Given the description of an element on the screen output the (x, y) to click on. 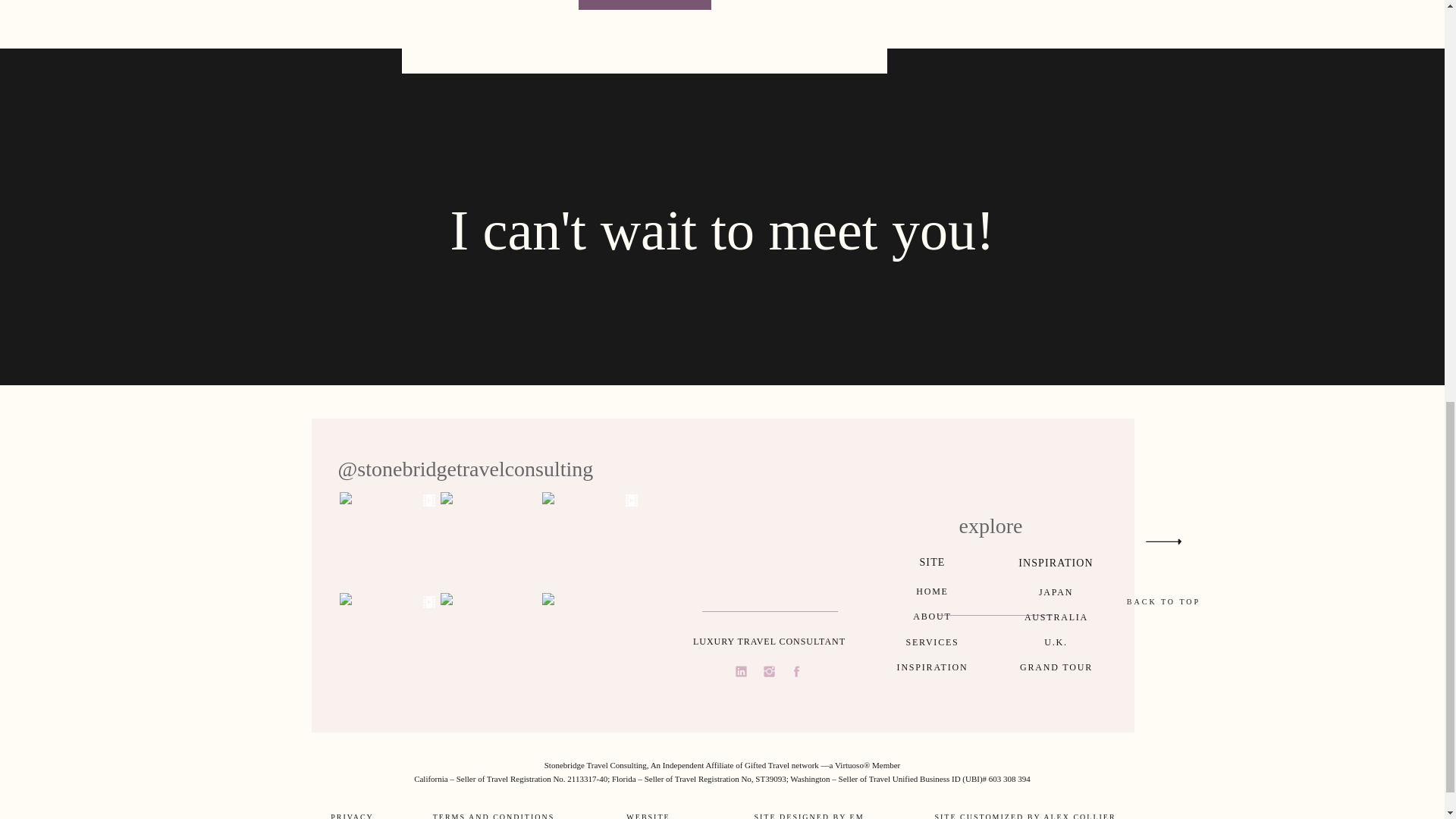
SEND (643, 1)
SITE DESIGNED BY EM SHOP (809, 815)
PRIVACY POLICY (352, 815)
ABOUT (931, 616)
INSPIRATION (1056, 565)
AUSTRALIA (1056, 617)
GRAND TOUR (1056, 667)
SERVICES (932, 642)
U.K. (1055, 642)
JAPAN (1055, 592)
SITE CUSTOMIZED BY ALEX COLLIER DESIGN (1024, 815)
INSPIRATION (933, 667)
HOME (931, 591)
BACK TO TOP (1163, 601)
